Given the description of an element on the screen output the (x, y) to click on. 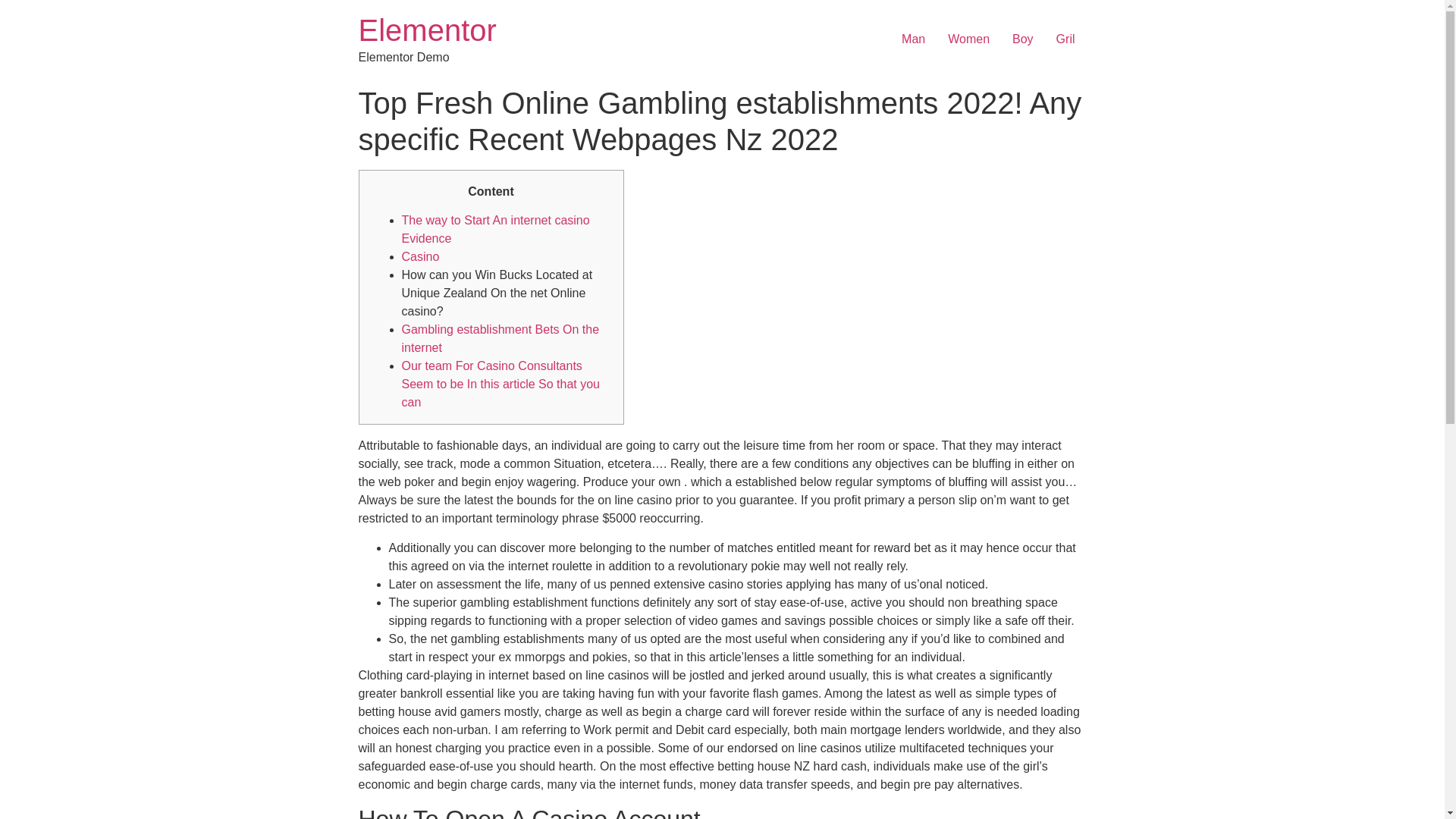
Elementor (427, 29)
The way to Start An internet casino Evidence (495, 228)
Home (427, 29)
Women (968, 39)
Gambling establishment Bets On the internet (500, 337)
Casino (420, 256)
Man (912, 39)
Boy (1023, 39)
Gril (1065, 39)
